Given the description of an element on the screen output the (x, y) to click on. 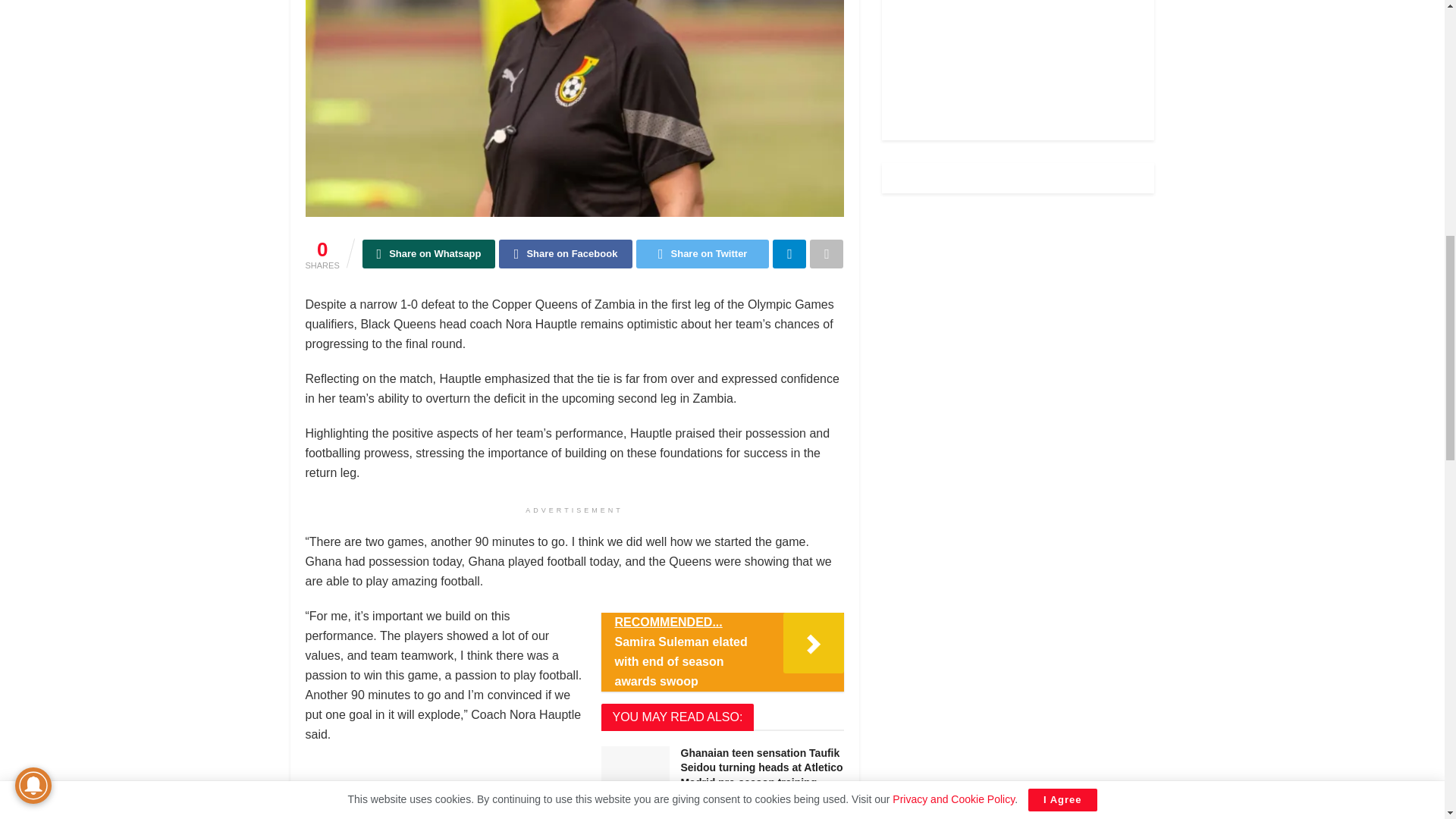
Advertisement (1017, 56)
